Given the description of an element on the screen output the (x, y) to click on. 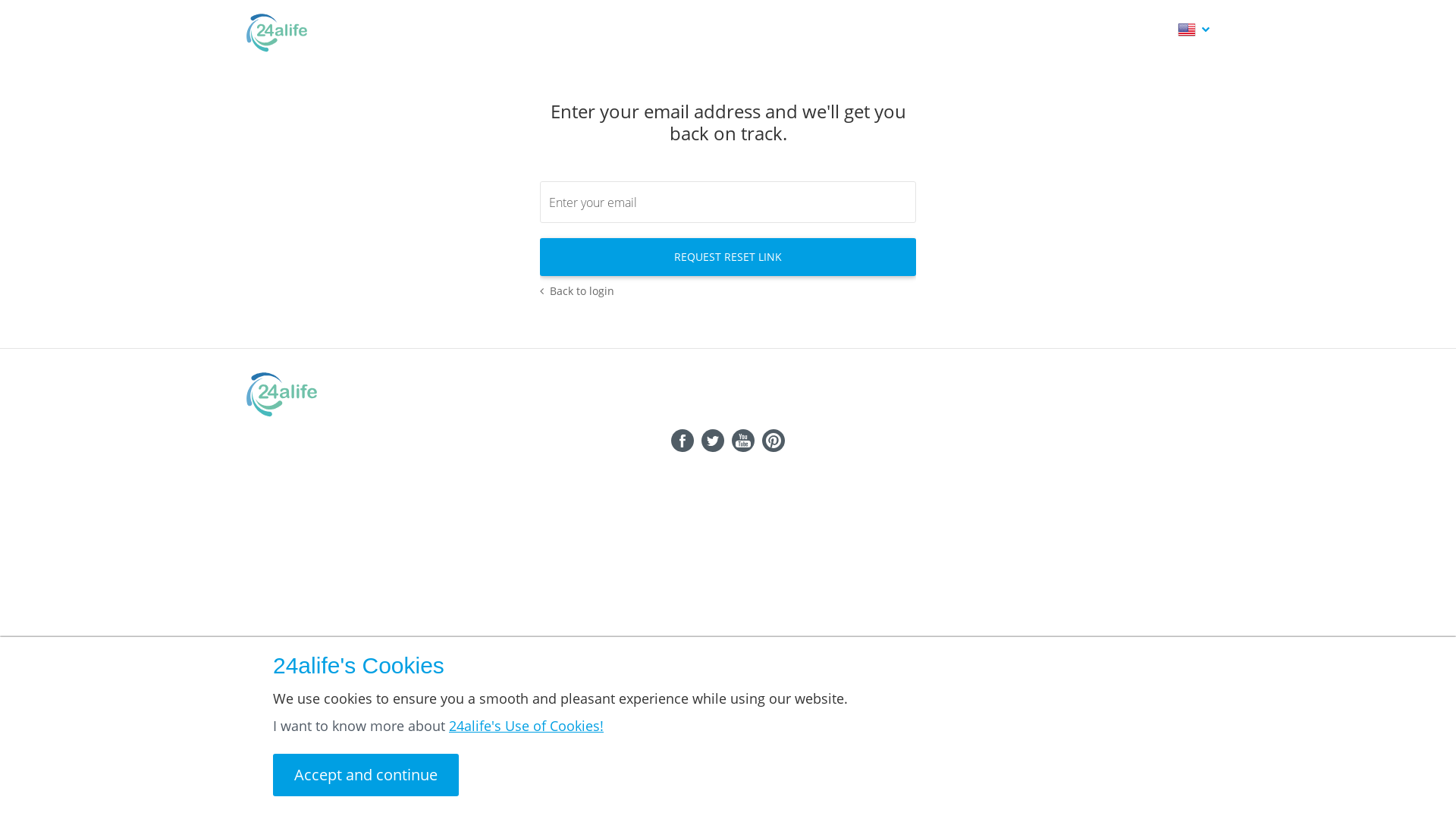
REQUEST RESET LINK Element type: text (727, 257)
Back to login Element type: text (727, 287)
24alife's Use of Cookies! Element type: text (525, 725)
